Given the description of an element on the screen output the (x, y) to click on. 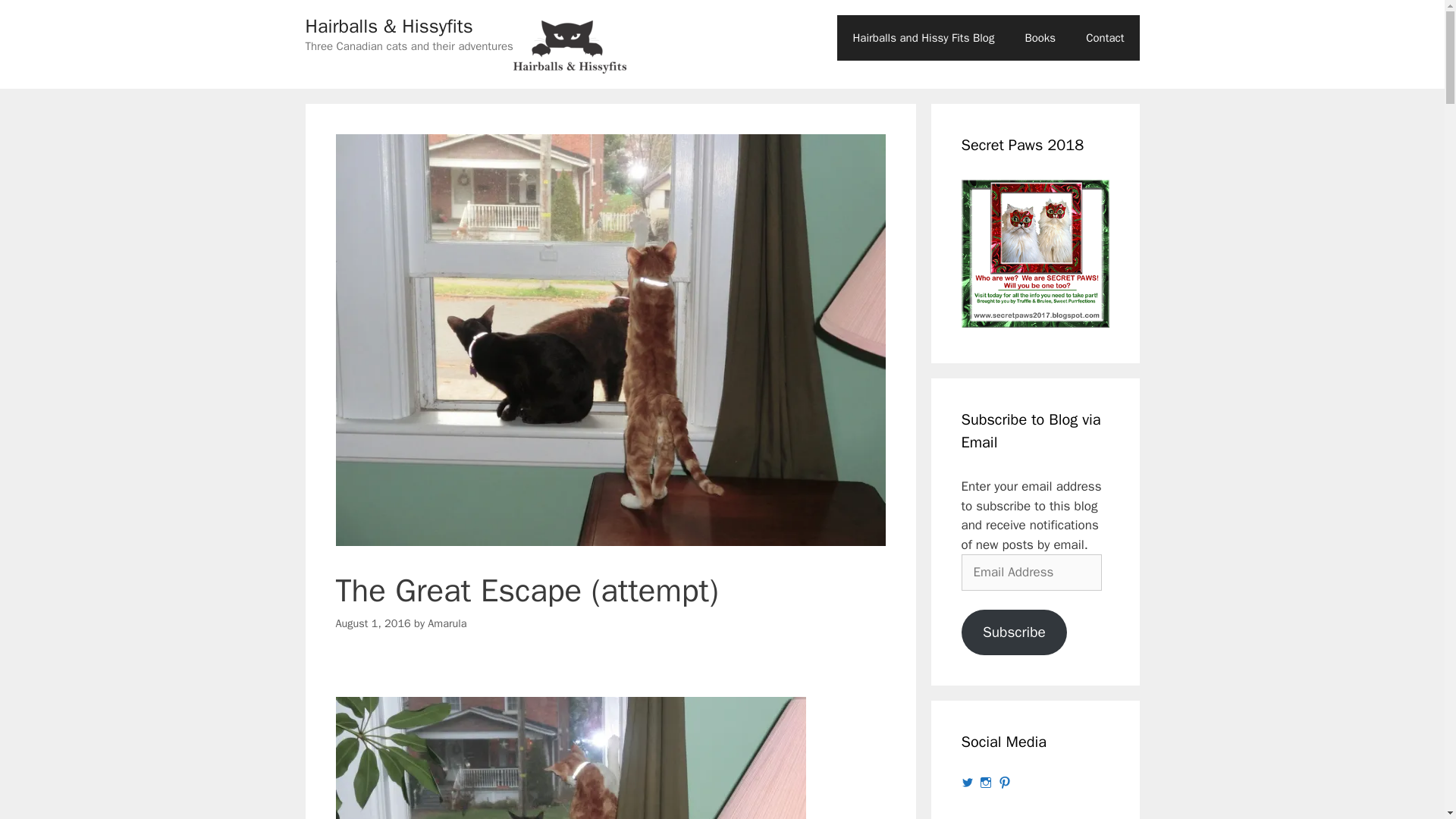
Books (1039, 37)
Amarula (446, 622)
View all posts by Amarula (446, 622)
Hairballs and Hissy Fits Blog (923, 37)
Contact (1104, 37)
